Given the description of an element on the screen output the (x, y) to click on. 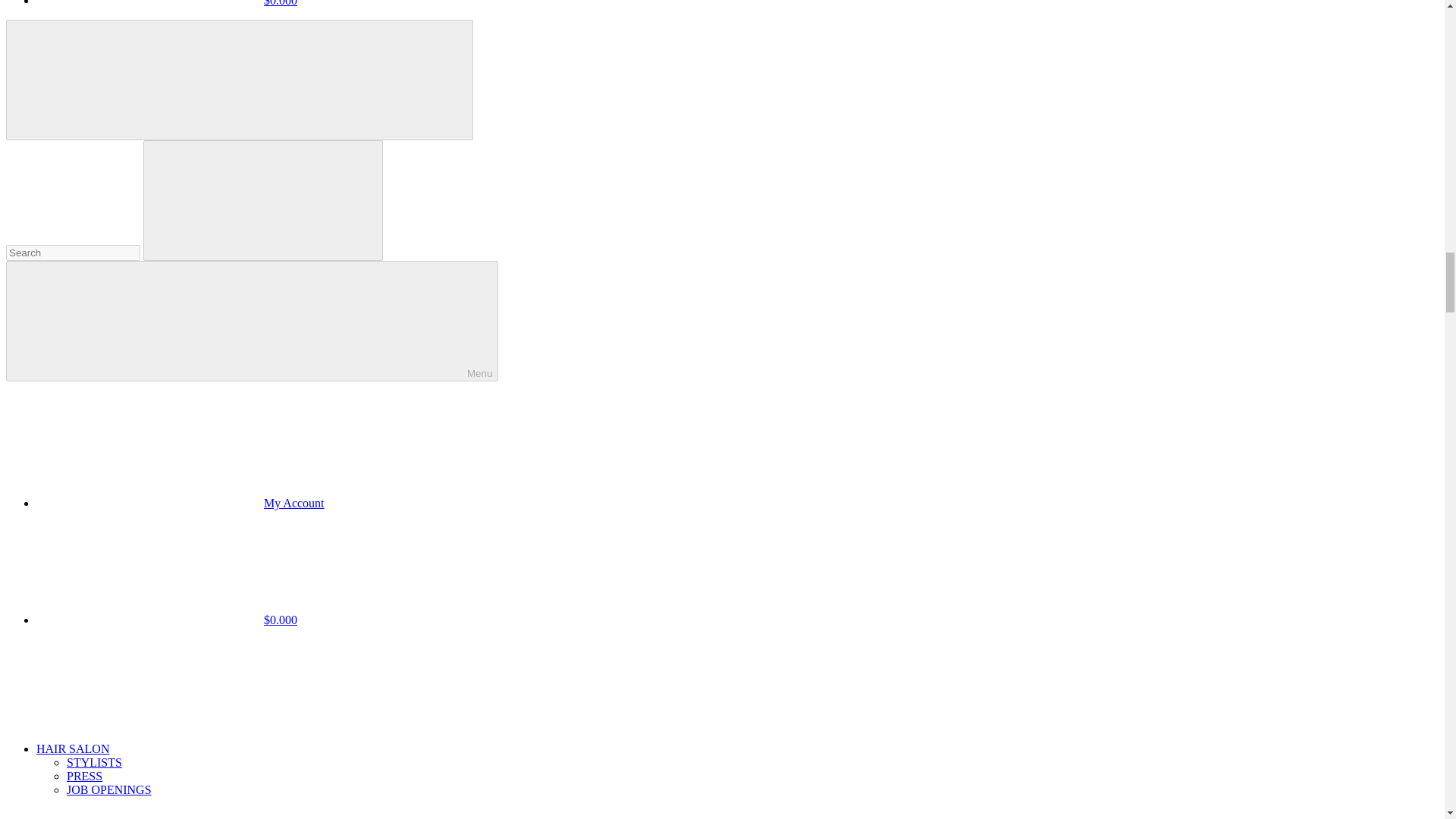
View your shopping cart (166, 3)
My Account (180, 502)
View your shopping cart (166, 619)
